Given the description of an element on the screen output the (x, y) to click on. 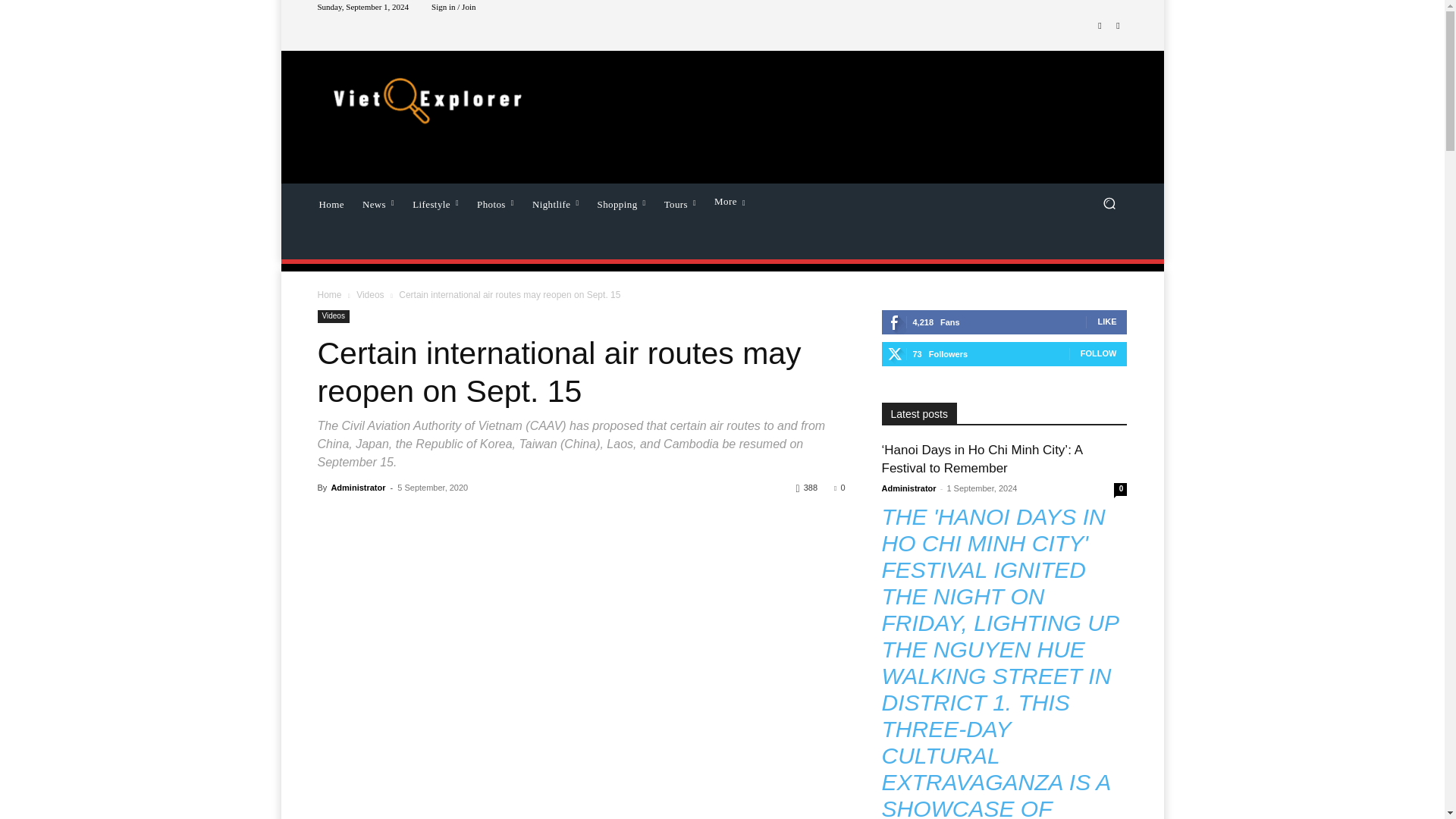
Lifestyle (435, 202)
Home (330, 202)
News (378, 202)
Twitter (1117, 25)
Facebook (1099, 25)
